Given the description of an element on the screen output the (x, y) to click on. 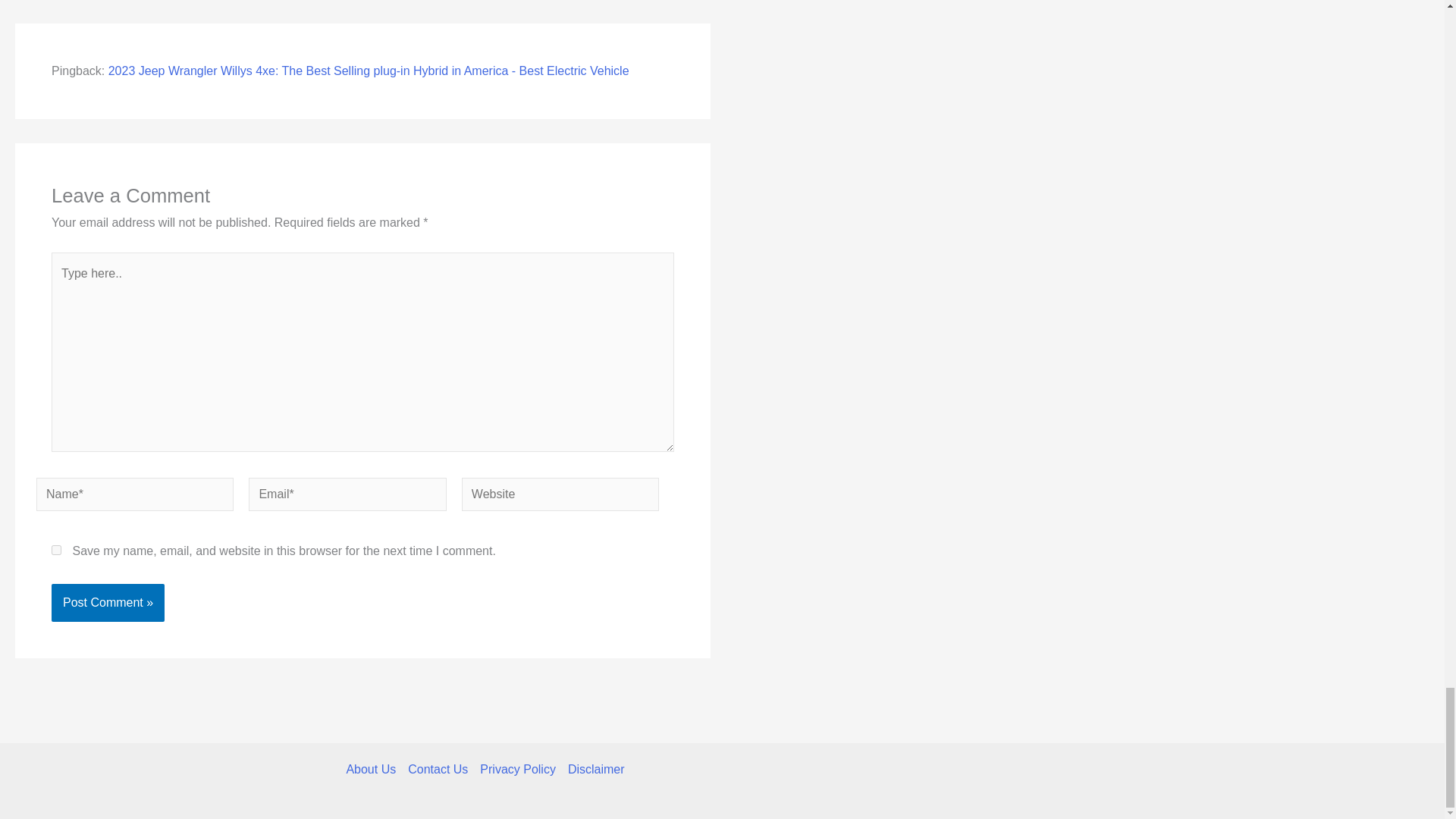
yes (55, 550)
